Given the description of an element on the screen output the (x, y) to click on. 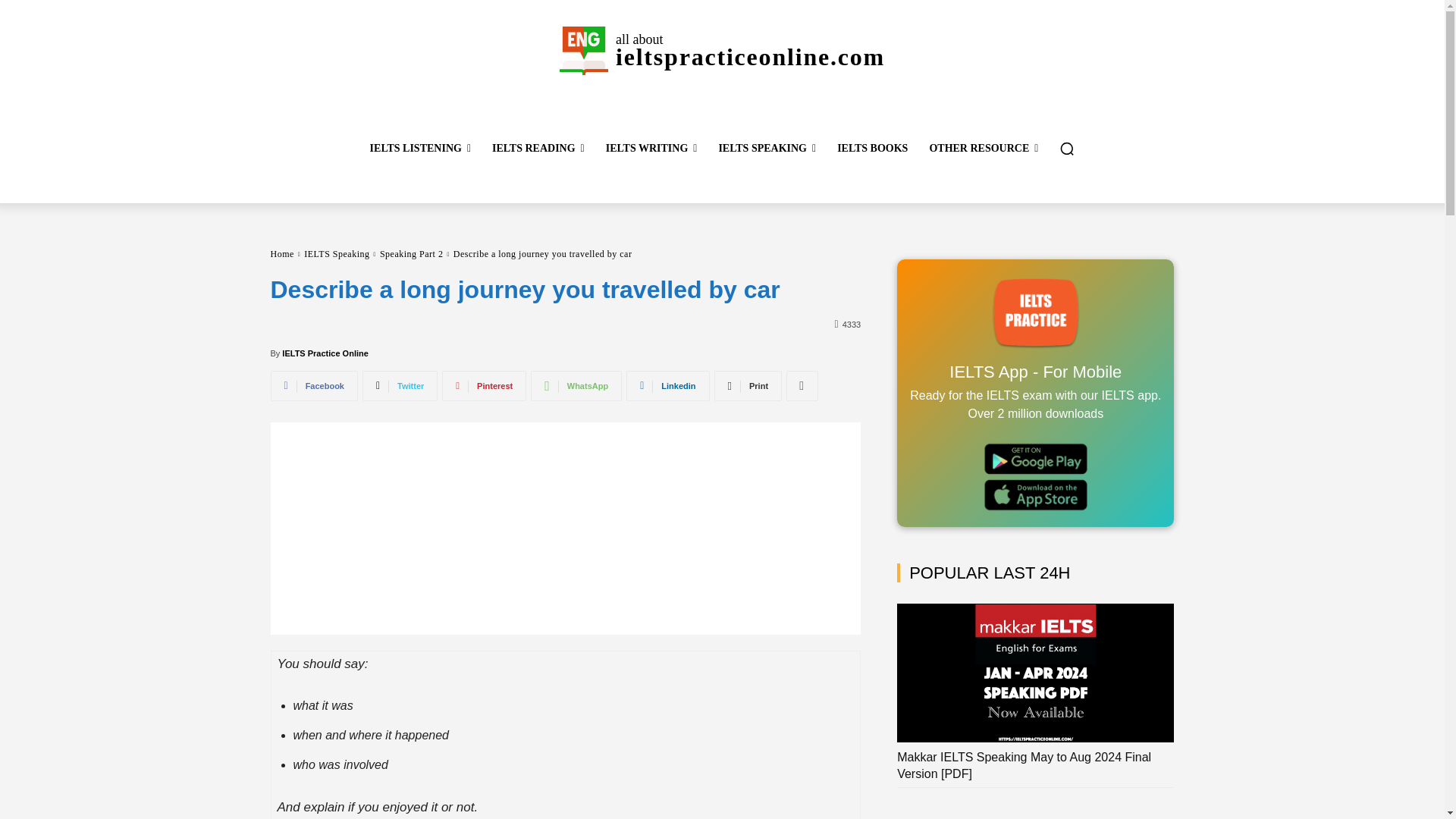
Facebook (312, 386)
Print (748, 386)
IELTS LISTENING (420, 148)
View all posts in Speaking Part 2 (412, 253)
Linkedin (667, 386)
View all posts in IELTS Speaking (336, 253)
Pinterest (483, 386)
Twitter (400, 386)
IELTS READING (538, 148)
WhatsApp (576, 386)
IELTS WRITING (651, 148)
ieltspracticeonline.com (583, 50)
ieltspracticeonline.com (721, 50)
